Given the description of an element on the screen output the (x, y) to click on. 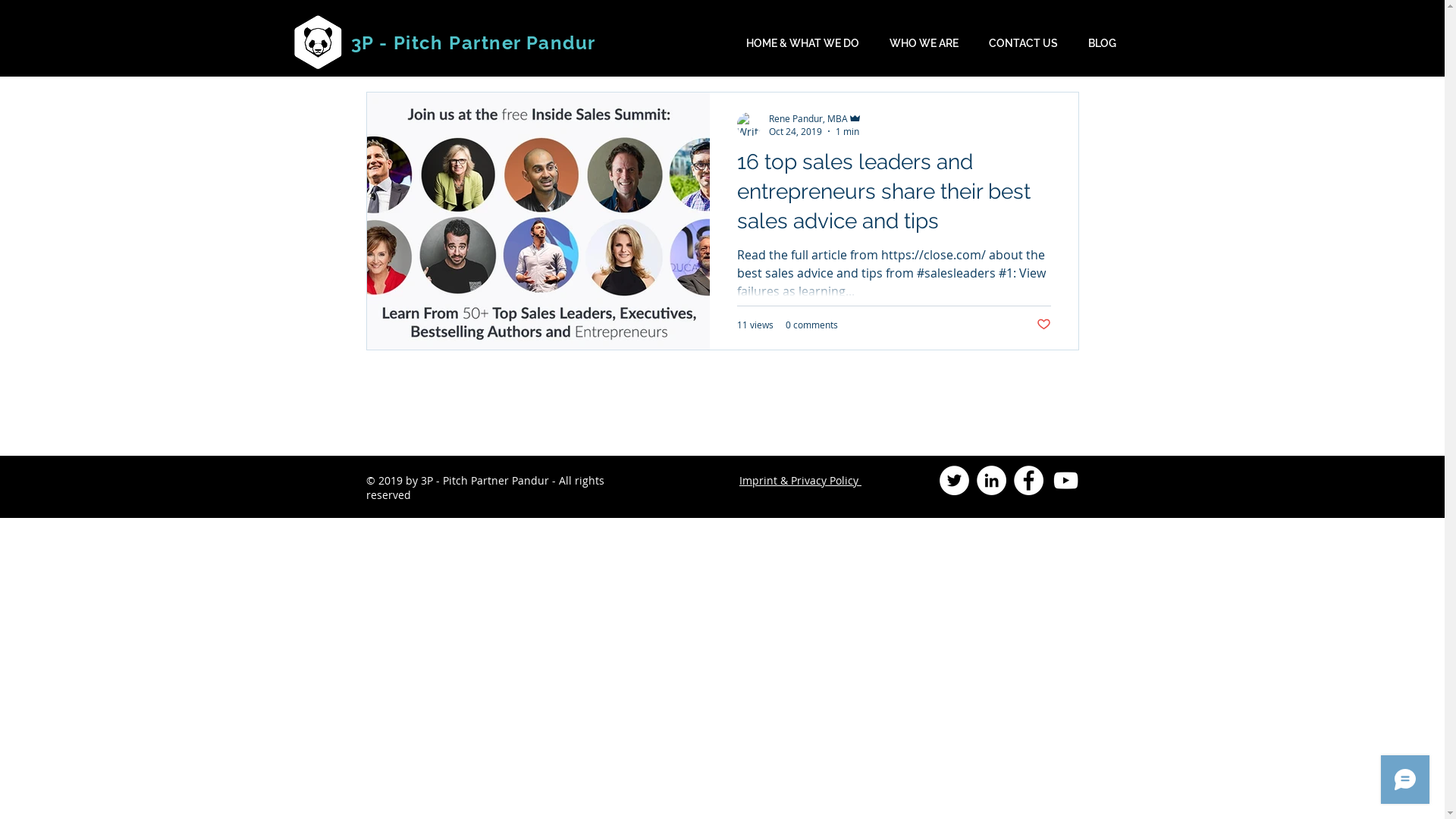
CONTACT US Element type: text (1023, 42)
Post not marked as liked Element type: text (1042, 324)
0 comments Element type: text (811, 324)
HOME & WHAT WE DO Element type: text (802, 42)
Imprint & Privacy Policy  Element type: text (800, 480)
Rene Pandur, MBA Element type: text (815, 117)
3P - Pitch Partner Pandur Element type: text (472, 42)
WHO WE ARE Element type: text (923, 42)
BLOG Element type: text (1102, 42)
